Given the description of an element on the screen output the (x, y) to click on. 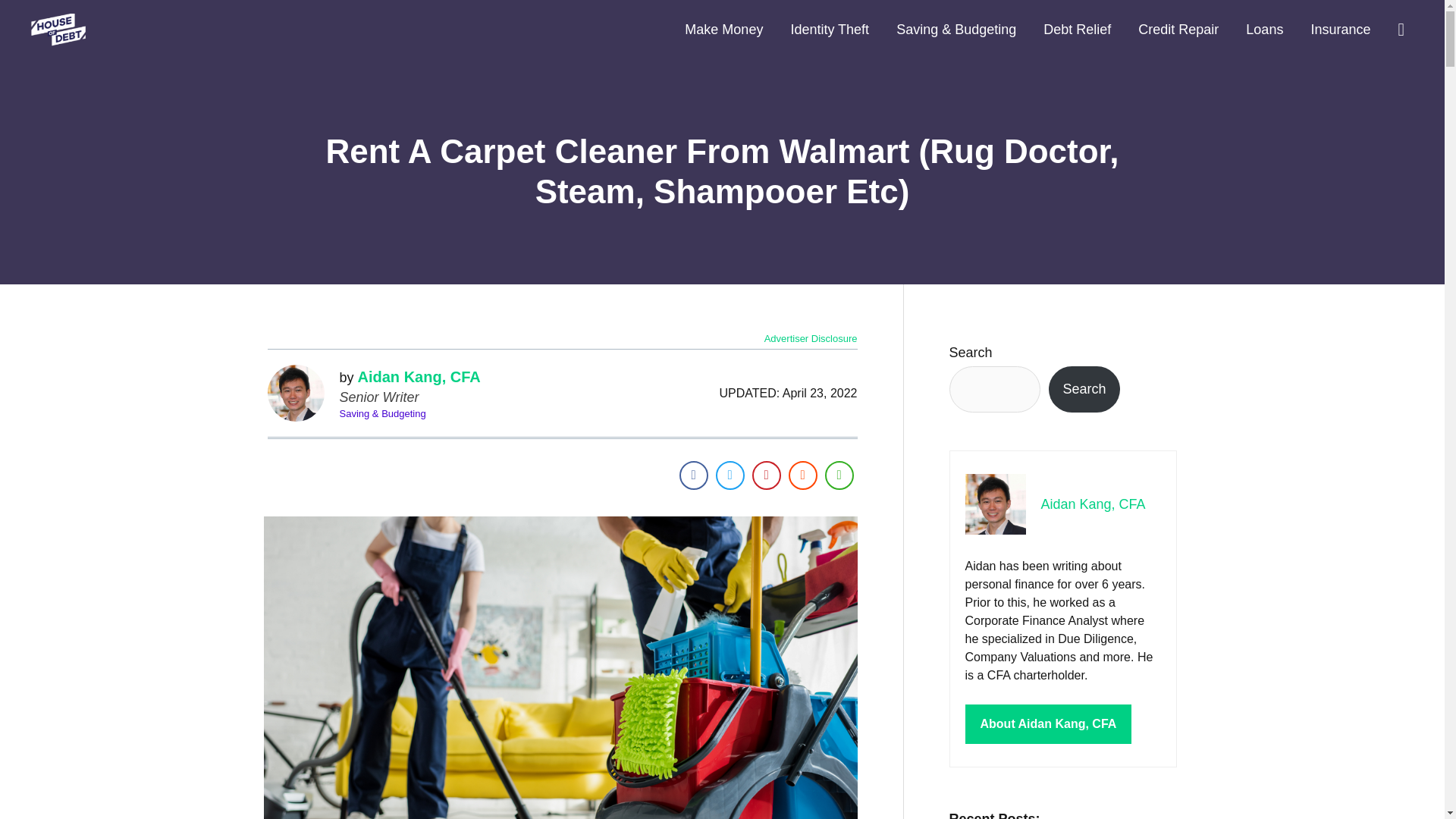
Credit Repair (1177, 29)
Insurance (1340, 29)
Aidan Kang, CFA (419, 376)
Debt Relief (1076, 29)
Loans (1264, 29)
Identity Theft (829, 29)
Advertiser Disclosure (810, 337)
Make Money (723, 29)
